Given the description of an element on the screen output the (x, y) to click on. 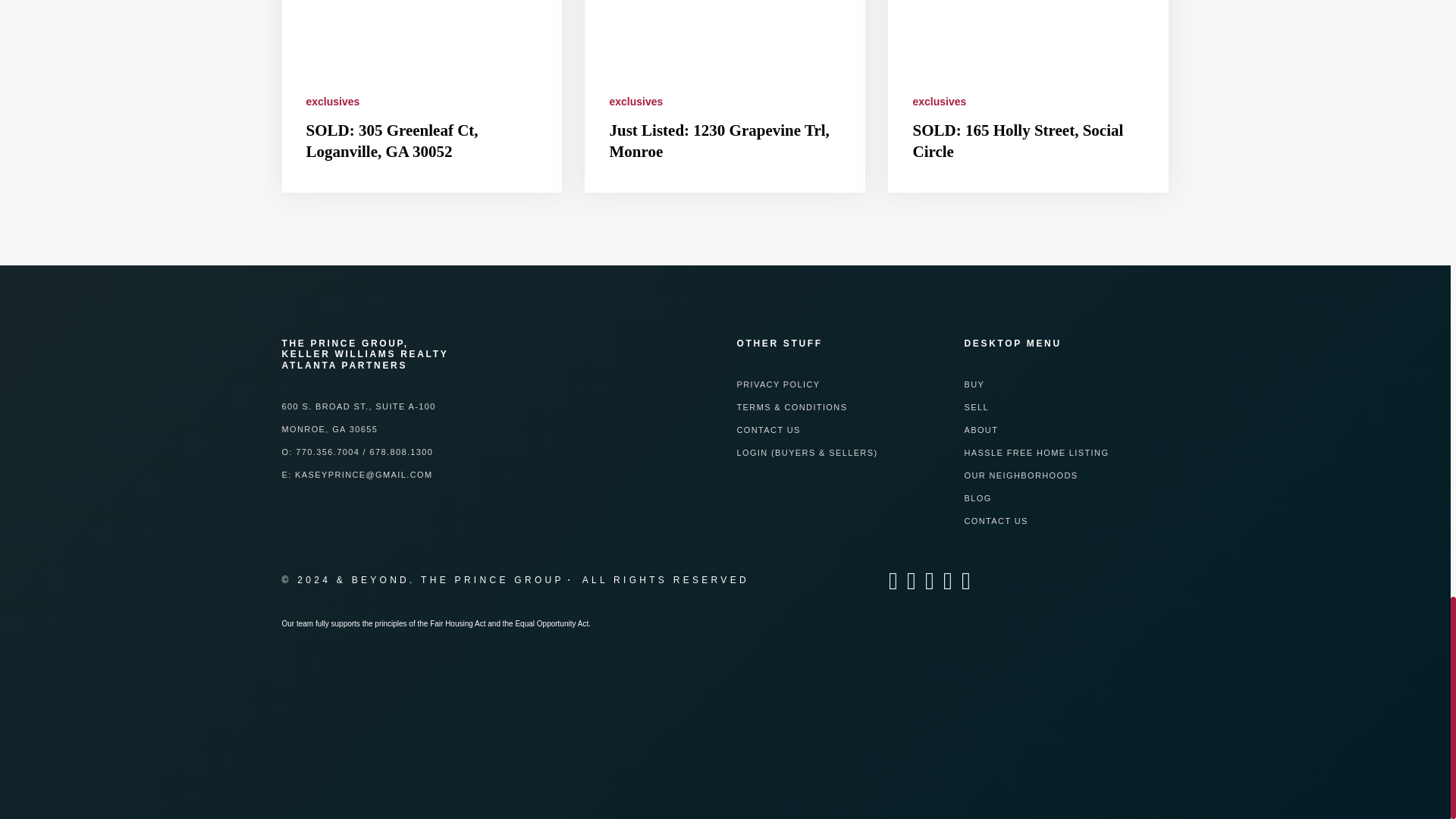
SOLD: 305 Greenleaf Ct, Loganville, GA 30052 (392, 140)
exclusives (332, 101)
